Given the description of an element on the screen output the (x, y) to click on. 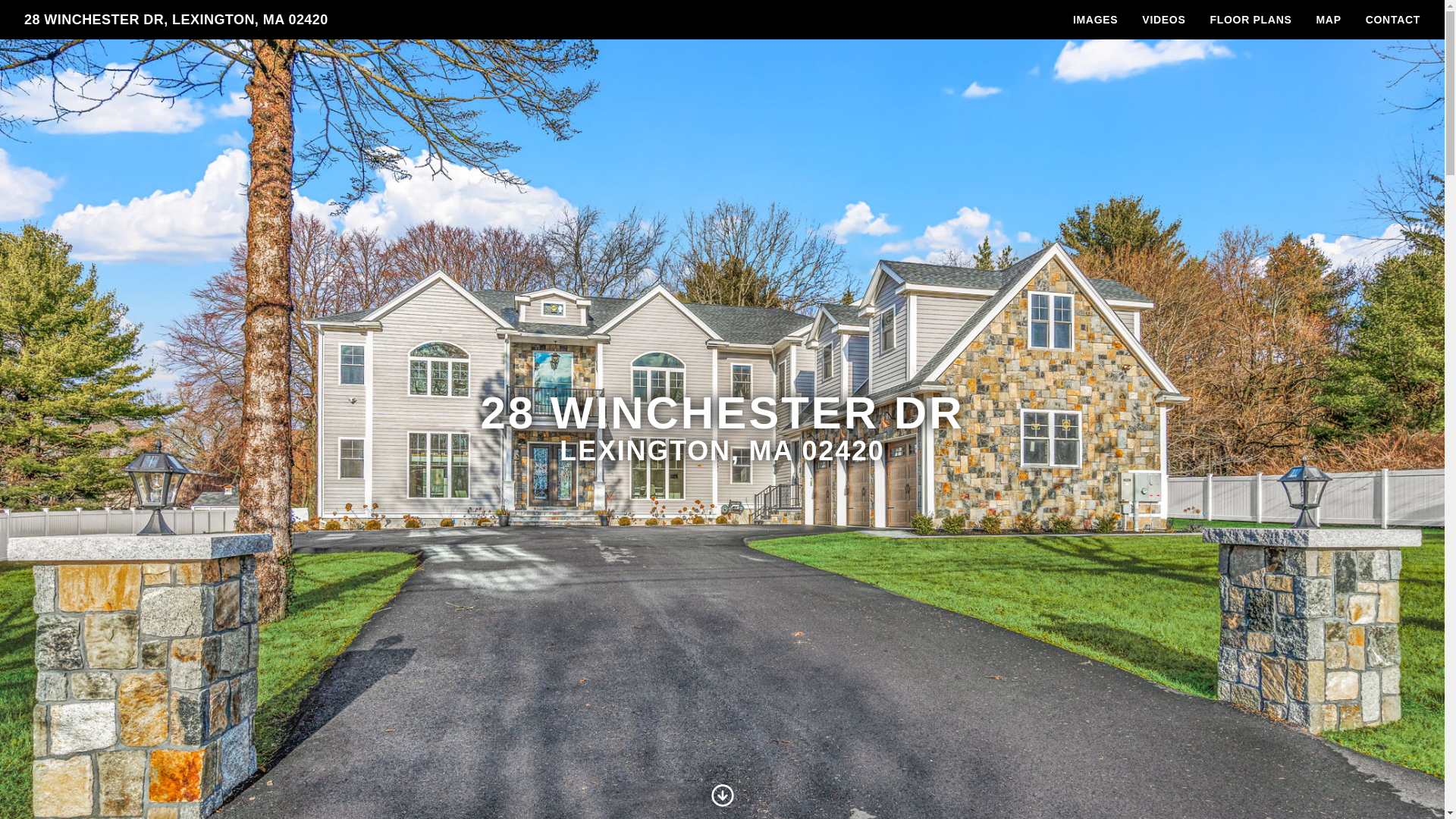
CONTACT Element type: text (1392, 19)
FLOOR PLANS Element type: text (1250, 19)
MAP Element type: text (1327, 19)
IMAGES Element type: text (1094, 19)
28 WINCHESTER DR, LEXINGTON, MA 02420 Element type: text (176, 19)
VIDEOS Element type: text (1163, 19)
